Given the description of an element on the screen output the (x, y) to click on. 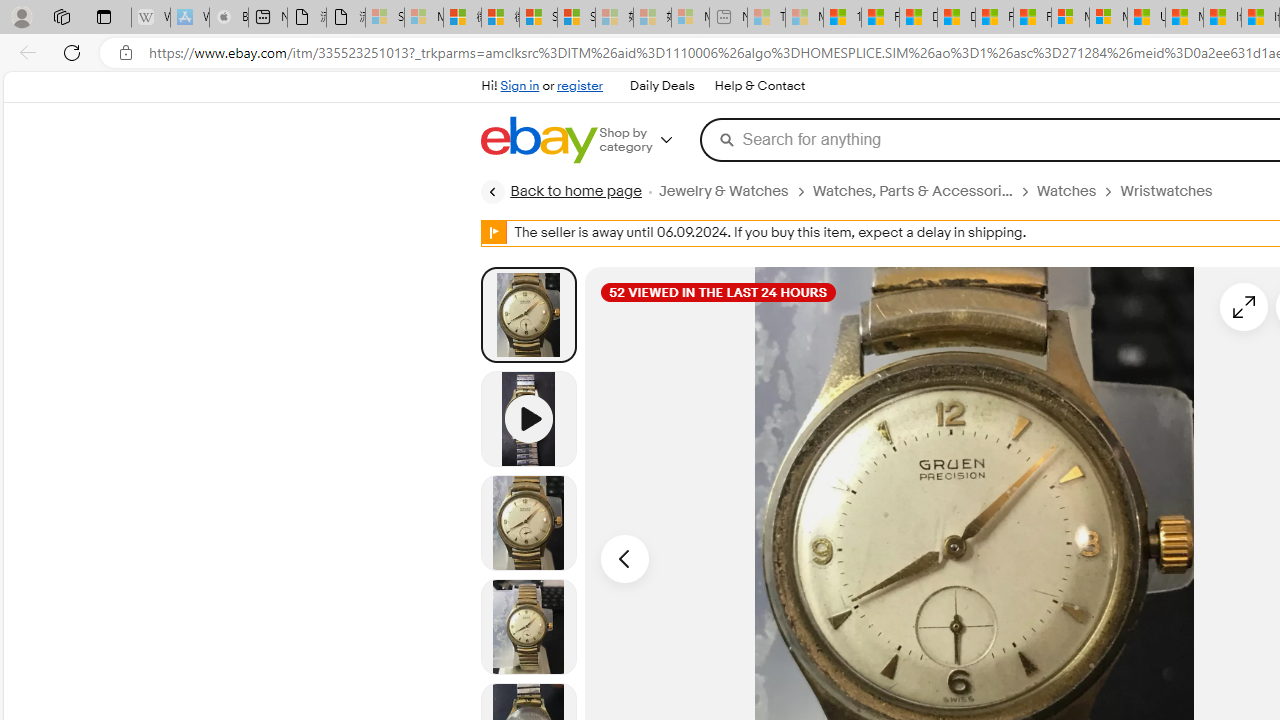
Back to home page (561, 191)
Video 1 of 1 (528, 417)
Picture 3 of 13 (528, 626)
Watches, Parts & Accessories (911, 191)
Foo BAR | Trusted Community Engagement and Contributions (1031, 17)
Video 1 of 1 (528, 418)
Shop by category (649, 140)
Watches (1065, 191)
